Given the description of an element on the screen output the (x, y) to click on. 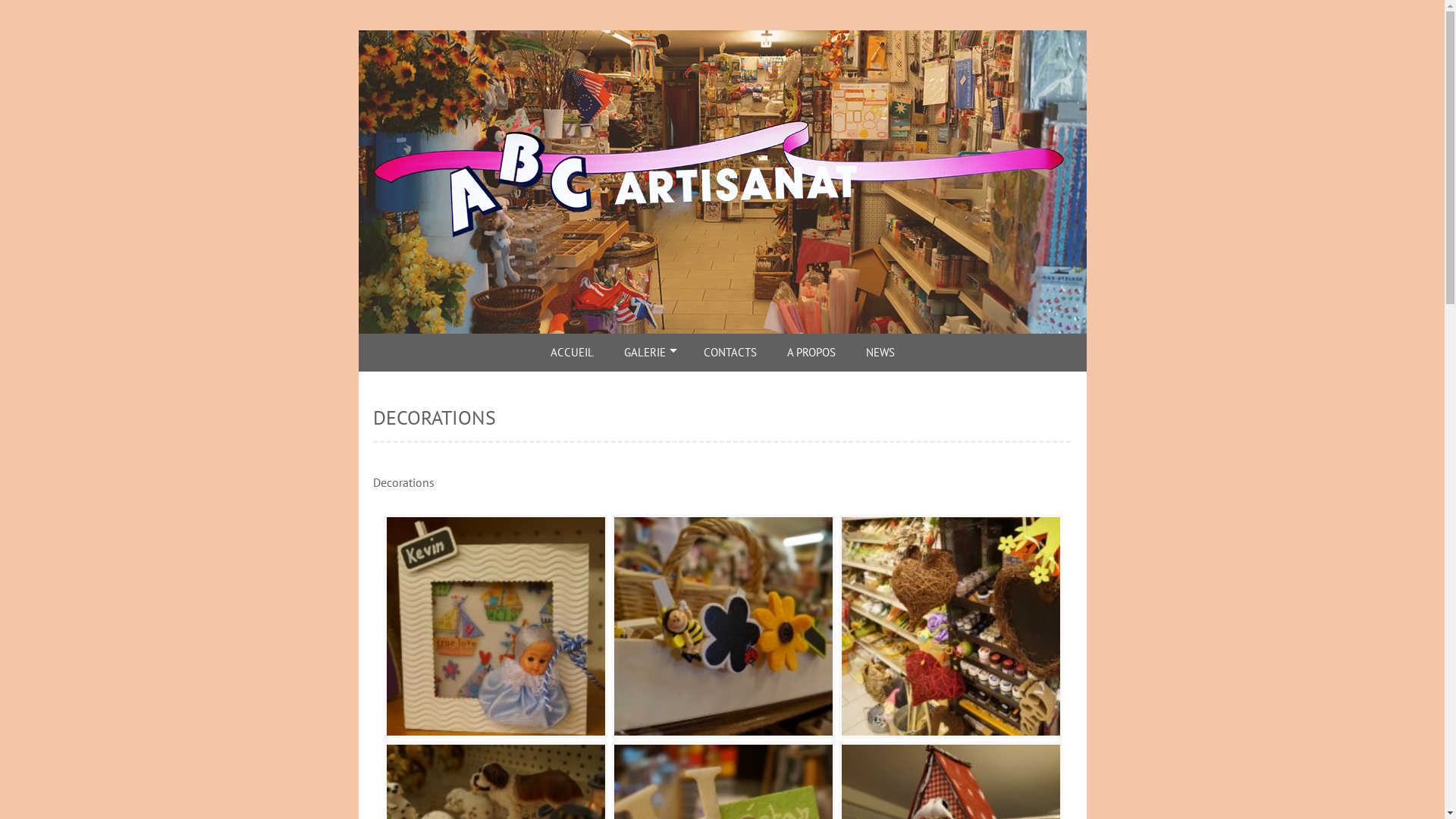
DSC00997 Element type: hover (495, 626)
DSC01009 Element type: hover (723, 626)
GALERIE Element type: text (647, 352)
A PROPOS Element type: text (810, 352)
ACCUEIL Element type: text (571, 352)
CONTACTS Element type: text (729, 352)
NEWS Element type: text (880, 352)
DSC01050   Element type: hover (950, 625)
